Given the description of an element on the screen output the (x, y) to click on. 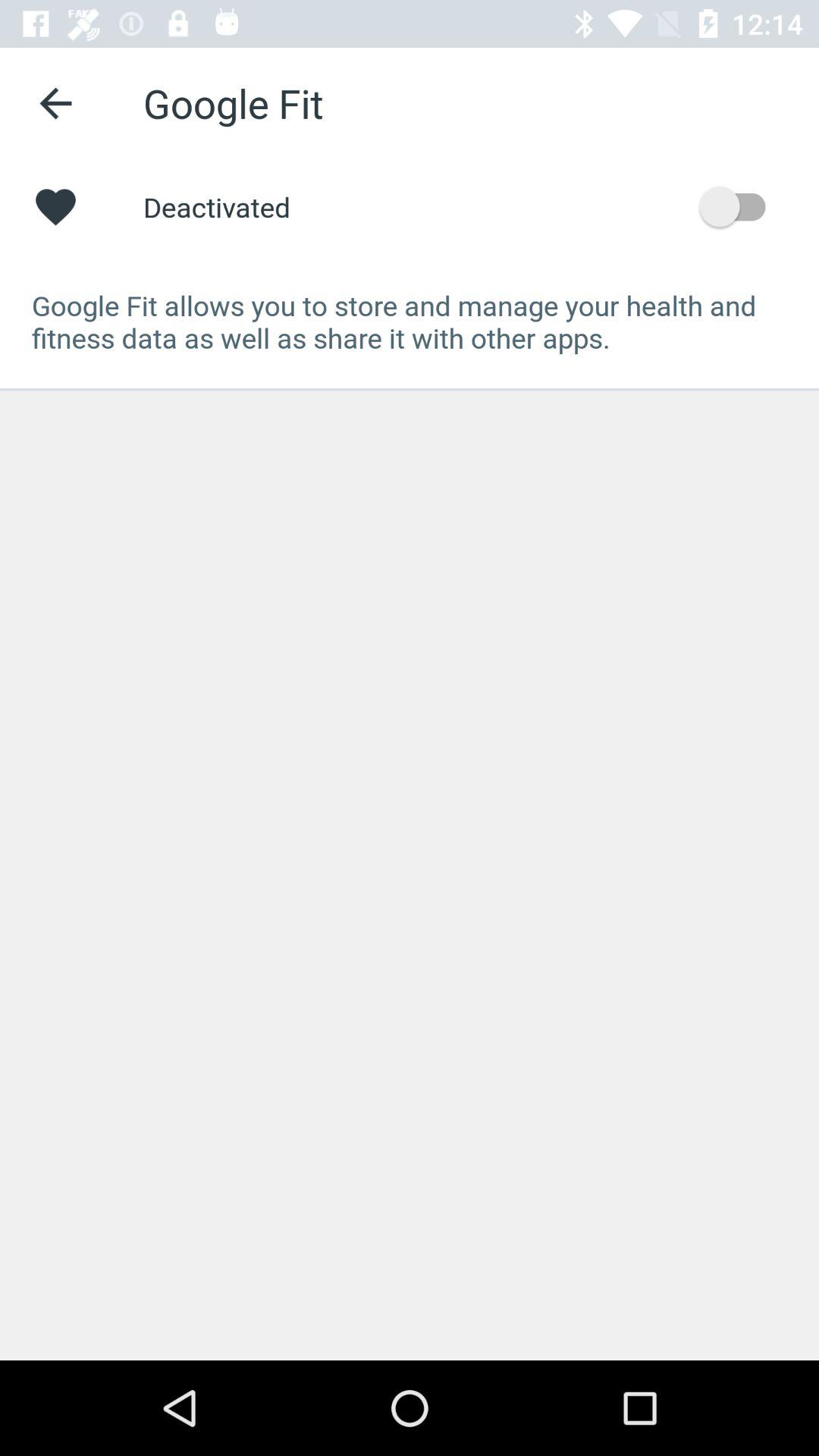
choose the icon next to deactivated icon (739, 206)
